Given the description of an element on the screen output the (x, y) to click on. 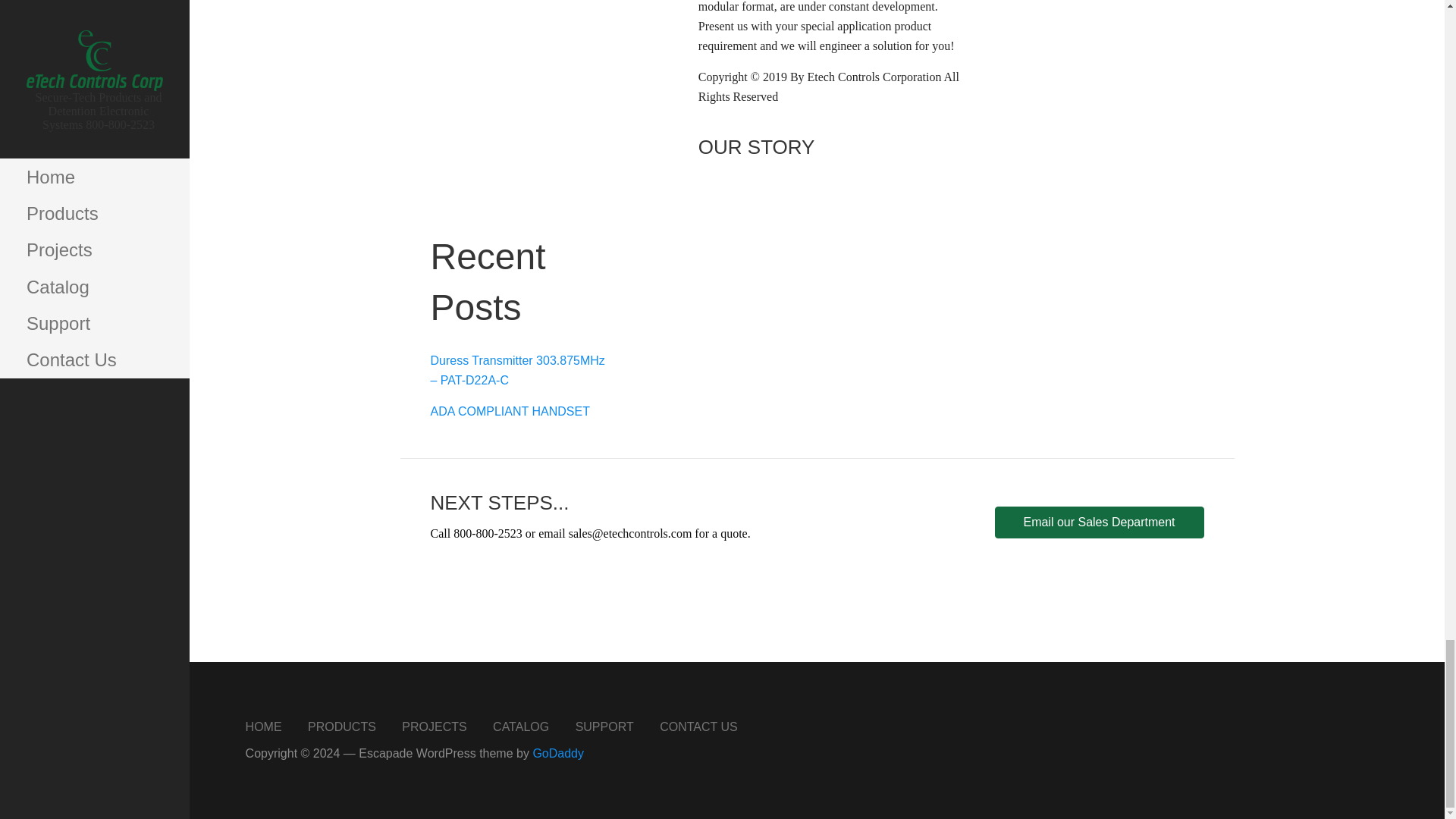
PRODUCTS (341, 726)
SUPPORT (604, 726)
GoDaddy (557, 753)
PROJECTS (433, 726)
CONTACT US (698, 726)
ADA COMPLIANT HANDSET (509, 410)
CATALOG (520, 726)
HOME (264, 726)
Email our Sales Department (1099, 522)
